Given the description of an element on the screen output the (x, y) to click on. 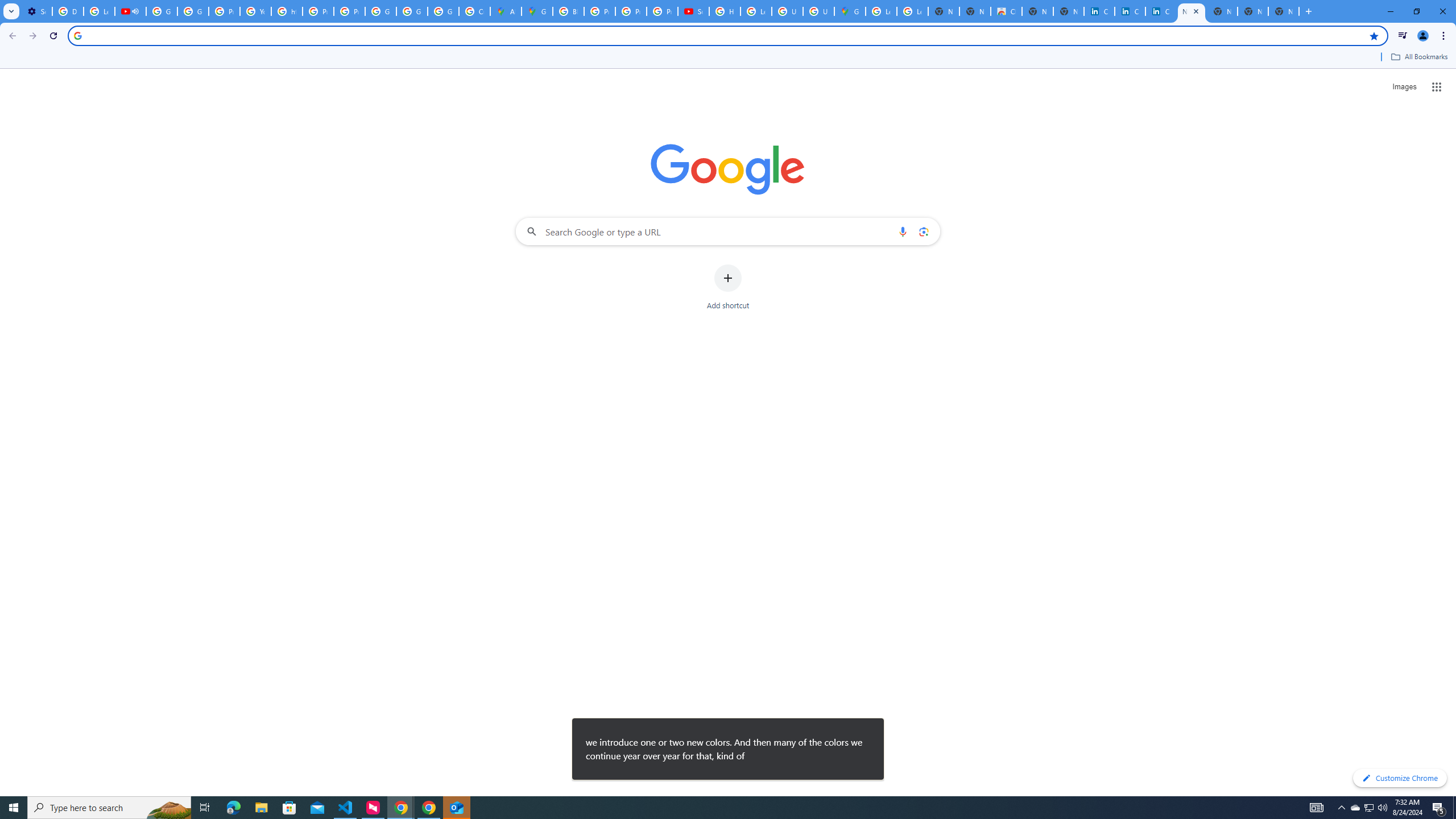
Privacy Help Center - Policies Help (318, 11)
Privacy Help Center - Policies Help (223, 11)
Privacy Help Center - Policies Help (631, 11)
How Chrome protects your passwords - Google Chrome Help (724, 11)
